Given the description of an element on the screen output the (x, y) to click on. 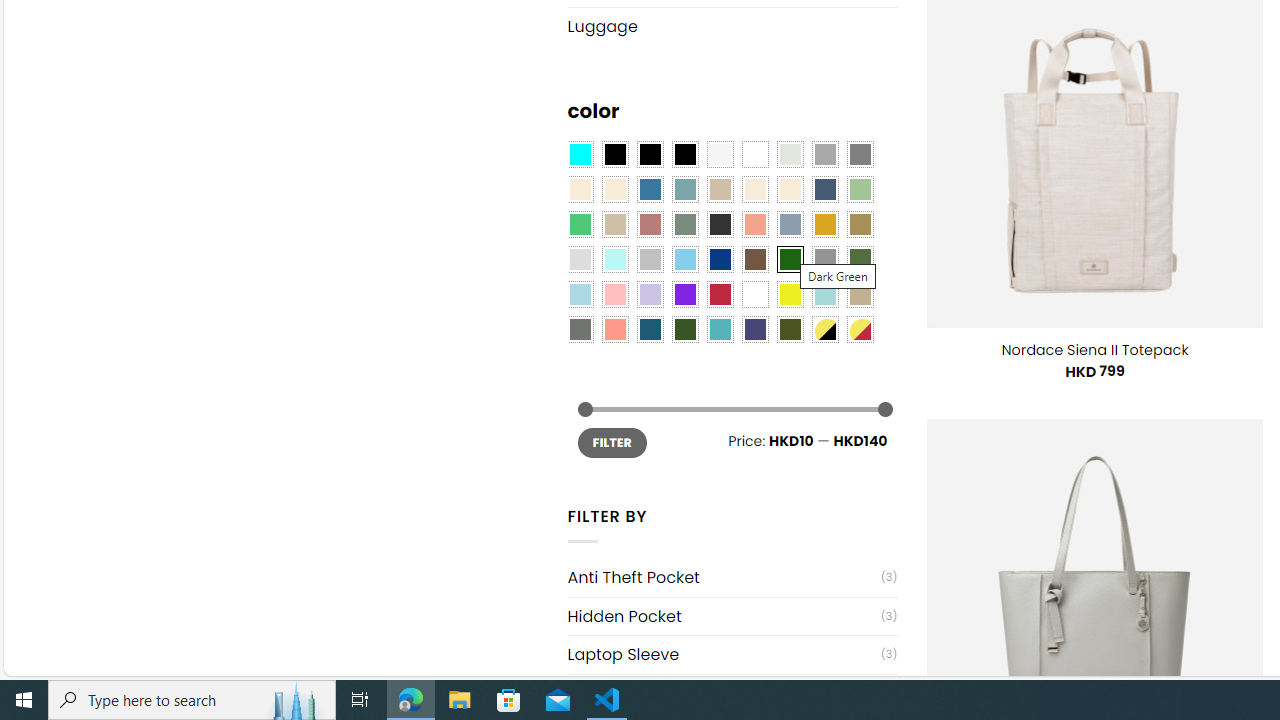
Anti Theft Pocket (723, 577)
Silver (650, 259)
Gray (824, 259)
Red (719, 295)
Emerald Green (579, 224)
Aqua (824, 295)
